Given the description of an element on the screen output the (x, y) to click on. 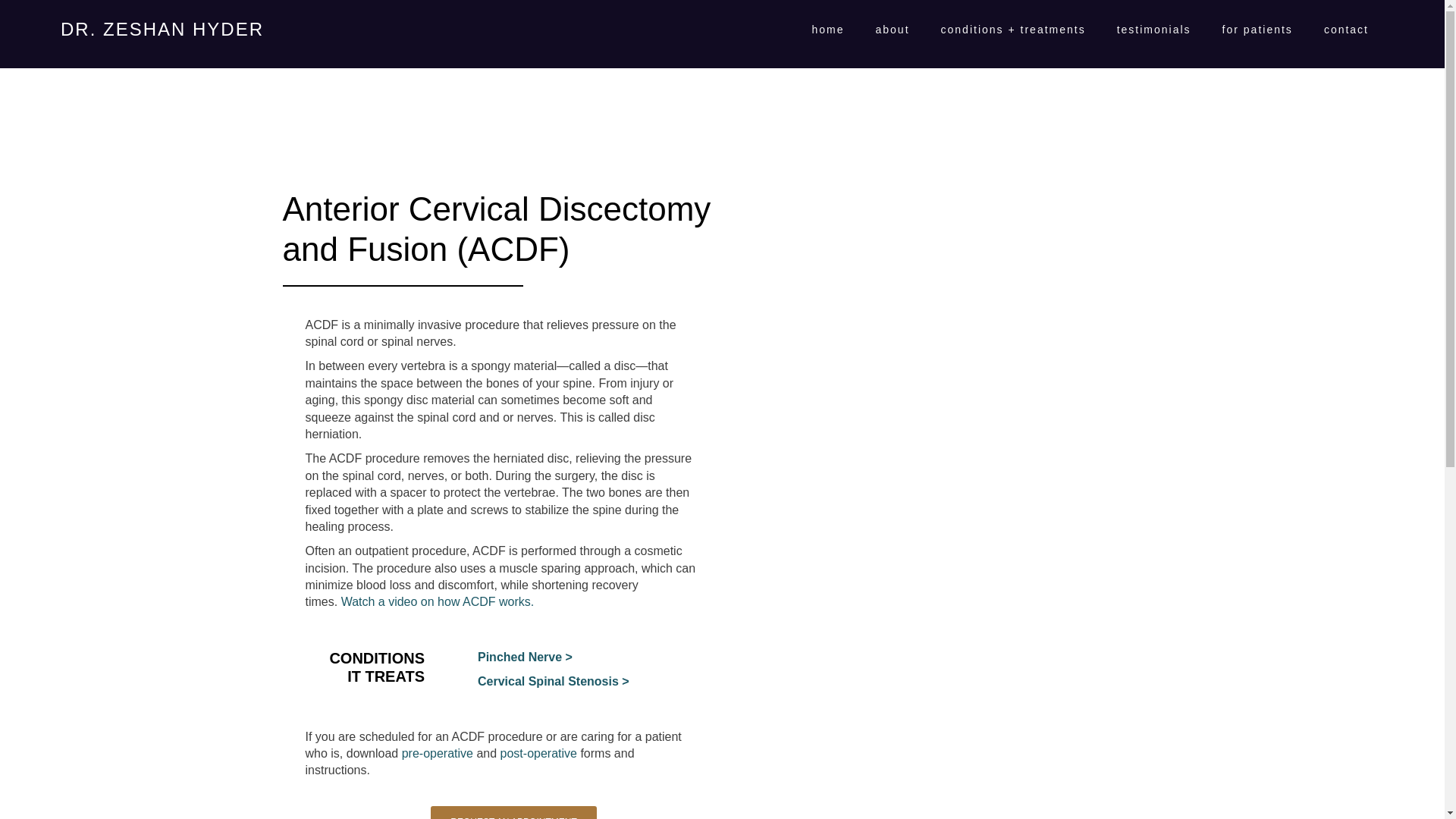
pre-operative (437, 753)
post-operative (538, 753)
DR. ZESHAN HYDER (162, 28)
about (892, 30)
REQUEST AN APPOINTMENT (512, 812)
testimonials (1154, 30)
contact (1346, 30)
Dr. Zeshan Hyder (162, 28)
home (827, 30)
Watch a video on how ACDF works. (437, 601)
